Given the description of an element on the screen output the (x, y) to click on. 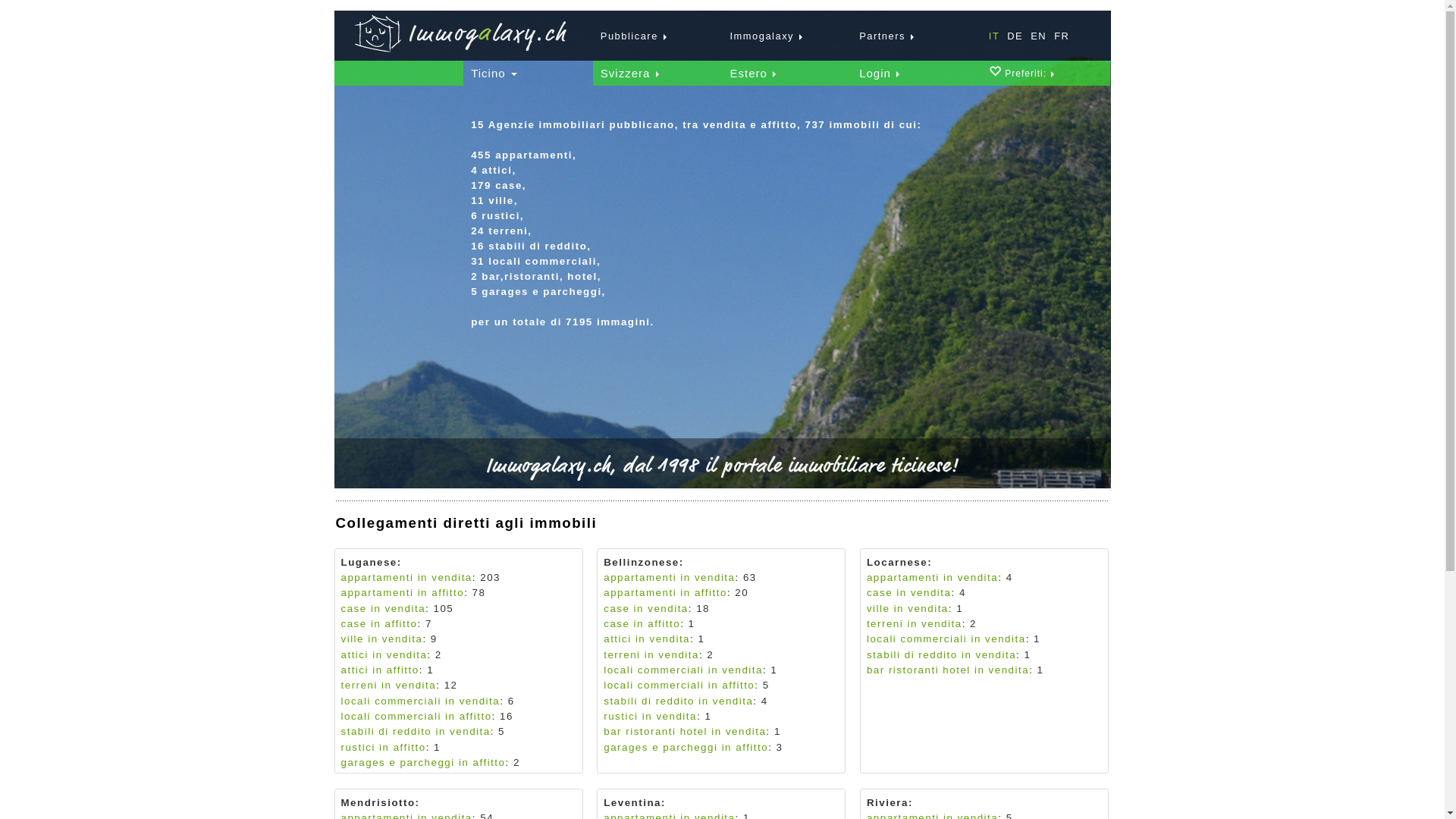
ville in vendita Element type: text (382, 638)
2 bar,ristoranti, hotel, Element type: text (535, 276)
case in affitto Element type: text (379, 623)
locali commerciali in vendita Element type: text (420, 700)
case in vendita Element type: text (908, 592)
FR Element type: text (1057, 35)
terreni in vendita Element type: text (388, 684)
Svizzera Element type: text (629, 73)
locali commerciali in affitto Element type: text (678, 684)
Preferiti: Element type: text (1029, 73)
appartamenti in vendita Element type: text (668, 577)
24 terreni, Element type: text (500, 230)
appartamenti in vendita Element type: text (931, 577)
terreni in vendita Element type: text (651, 654)
bar ristoranti hotel in vendita Element type: text (684, 731)
16 stabili di reddito, Element type: text (530, 245)
locali commerciali in vendita Element type: text (682, 669)
ville in vendita Element type: text (907, 608)
11 ville, Element type: text (493, 200)
IT Element type: text (990, 35)
stabili di reddito in vendita Element type: text (415, 731)
179 case, Element type: text (498, 185)
locali commerciali in affitto Element type: text (416, 715)
garages e parcheggi in affitto Element type: text (423, 762)
bar ristoranti hotel in vendita Element type: text (947, 669)
rustici in affitto Element type: text (383, 747)
appartamenti in affitto Element type: text (665, 592)
Immogalaxy.ch, dal 1998 il portale immobiliare ticinese! Element type: text (722, 467)
case in affitto Element type: text (641, 623)
locali commerciali in vendita Element type: text (946, 638)
attici in affitto Element type: text (380, 669)
per un totale di 7195 immagini. Element type: text (562, 336)
case in vendita Element type: text (383, 608)
Pubblicare Element type: text (629, 35)
case in vendita Element type: text (645, 608)
attici in vendita Element type: text (384, 654)
455 appartamenti, Element type: text (523, 154)
5 garages e parcheggi, Element type: text (537, 291)
31 locali commerciali, Element type: text (535, 260)
Estero Element type: text (752, 73)
appartamenti in affitto Element type: text (402, 592)
garages e parcheggi in affitto Element type: text (685, 747)
rustici in vendita Element type: text (649, 715)
Login Element type: text (879, 73)
stabili di reddito in vendita Element type: text (941, 654)
Immogalaxy Element type: text (761, 35)
appartamenti in vendita Element type: text (406, 577)
terreni in vendita Element type: text (914, 623)
4 attici, Element type: text (493, 169)
DE Element type: text (1010, 35)
Partners Element type: text (882, 35)
attici in vendita Element type: text (646, 638)
6 rustici, Element type: text (497, 215)
stabili di reddito in vendita Element type: text (678, 700)
EN Element type: text (1034, 35)
Ticino Element type: text (493, 73)
